Given the description of an element on the screen output the (x, y) to click on. 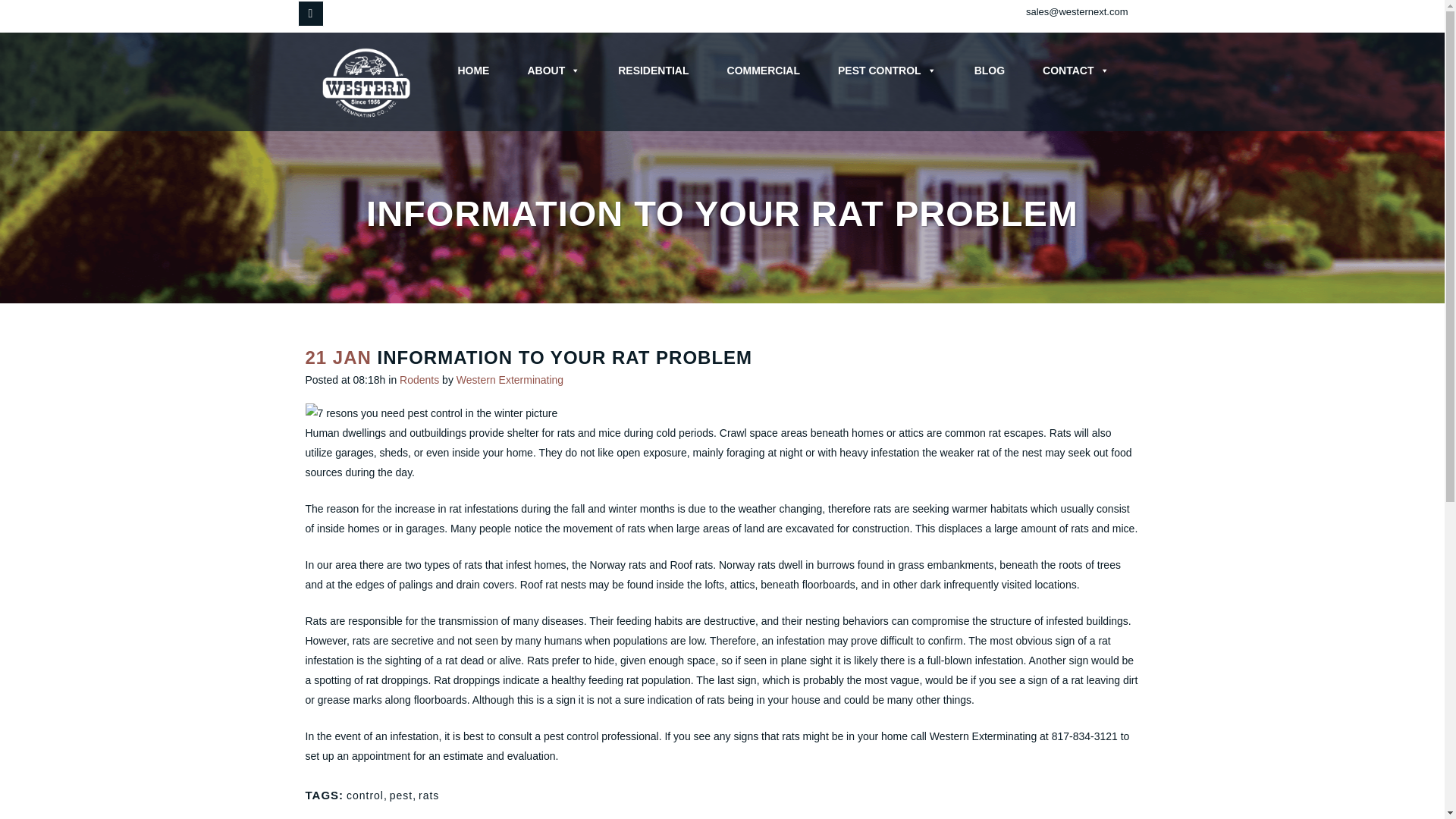
CONTACT (1071, 70)
ABOUT (549, 70)
COMMERCIAL (759, 70)
PEST CONTROL (882, 70)
HOME (469, 70)
RESIDENTIAL (649, 70)
BLOG (985, 70)
